Given the description of an element on the screen output the (x, y) to click on. 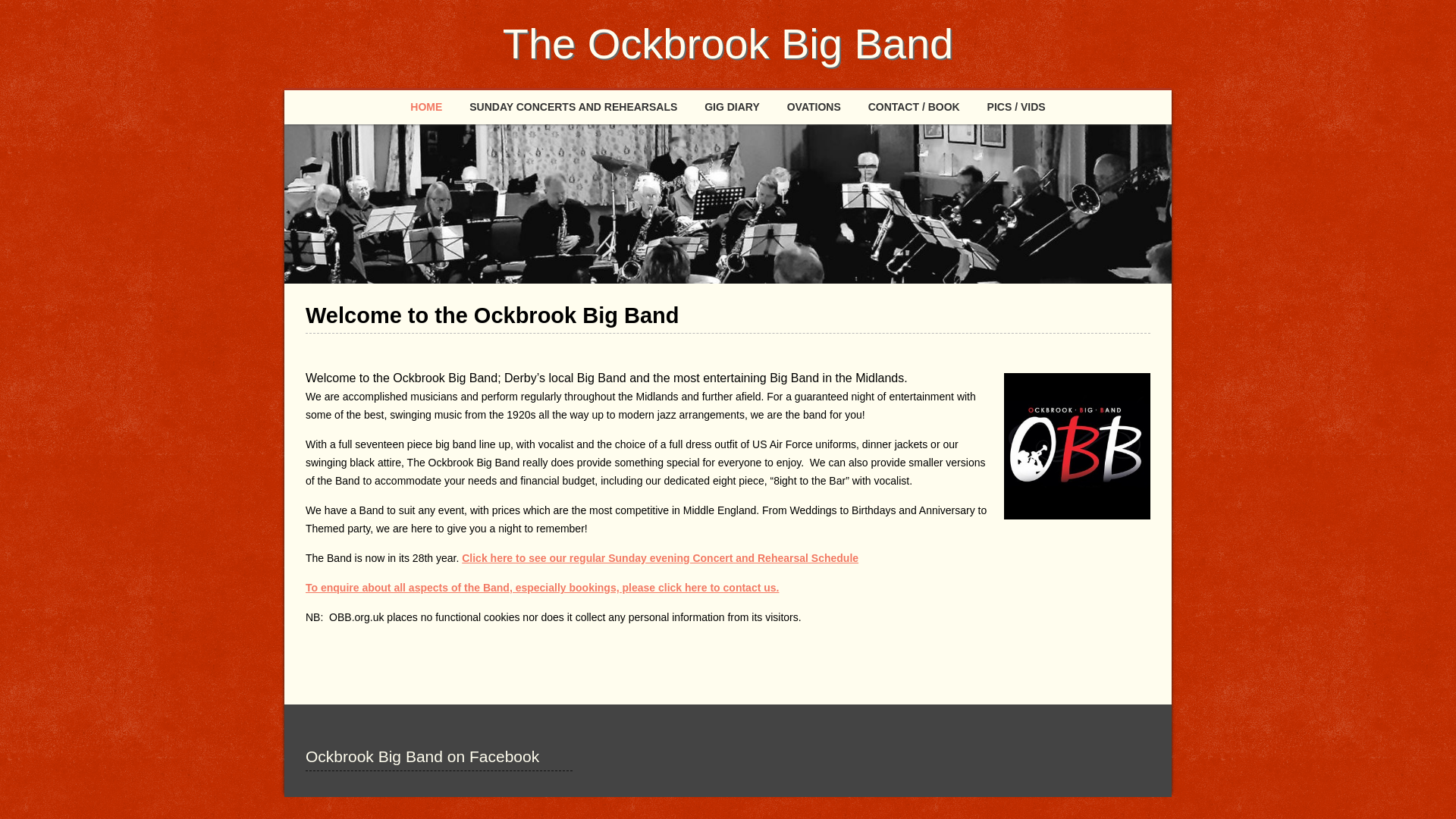
HOME (425, 107)
The Ockbrook Big Band (727, 43)
Reviews (813, 107)
OVATIONS (813, 107)
SUNDAY CONCERTS AND REHEARSALS (572, 107)
GIG DIARY (732, 107)
